Given the description of an element on the screen output the (x, y) to click on. 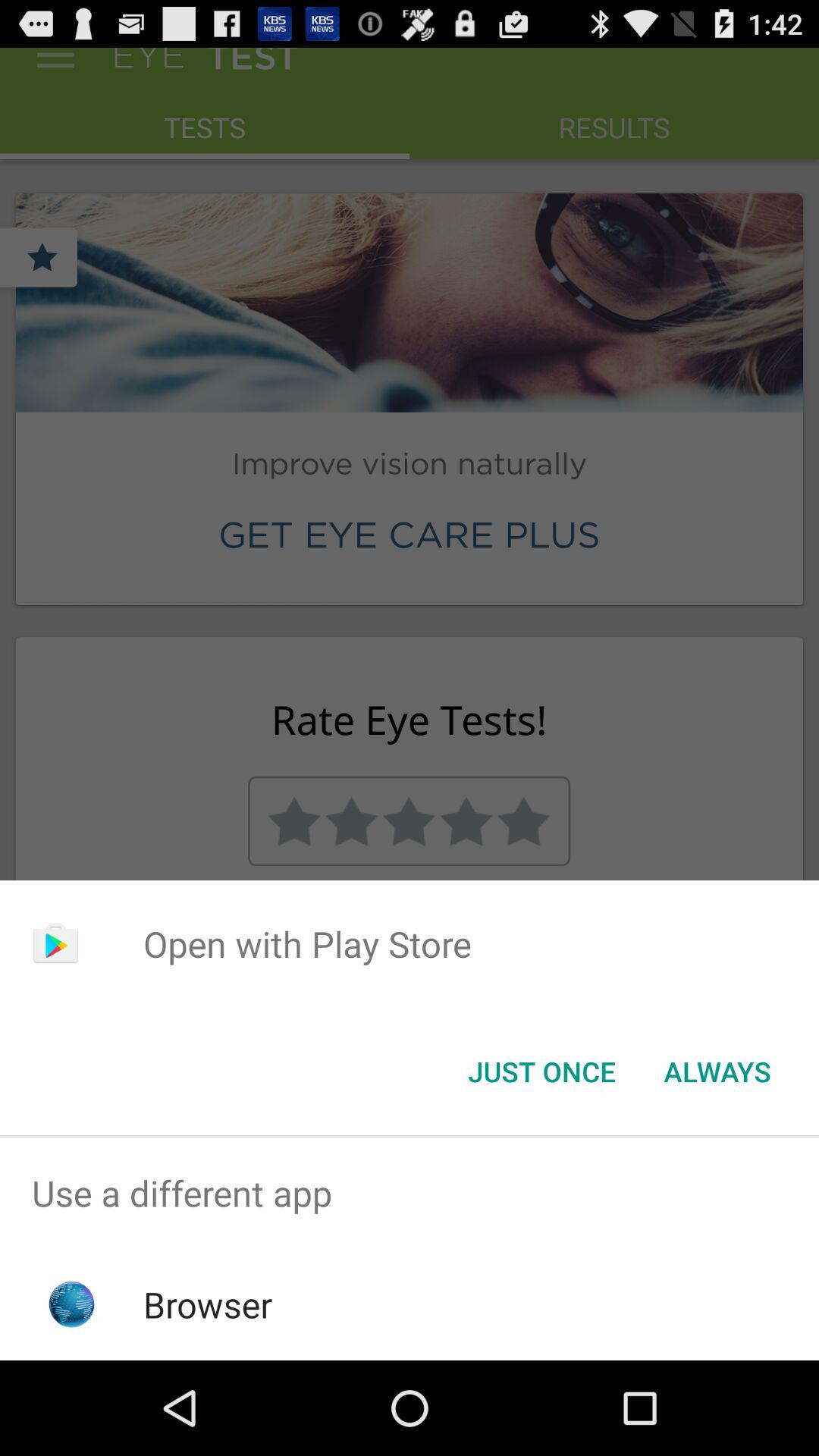
tap use a different (409, 1192)
